Given the description of an element on the screen output the (x, y) to click on. 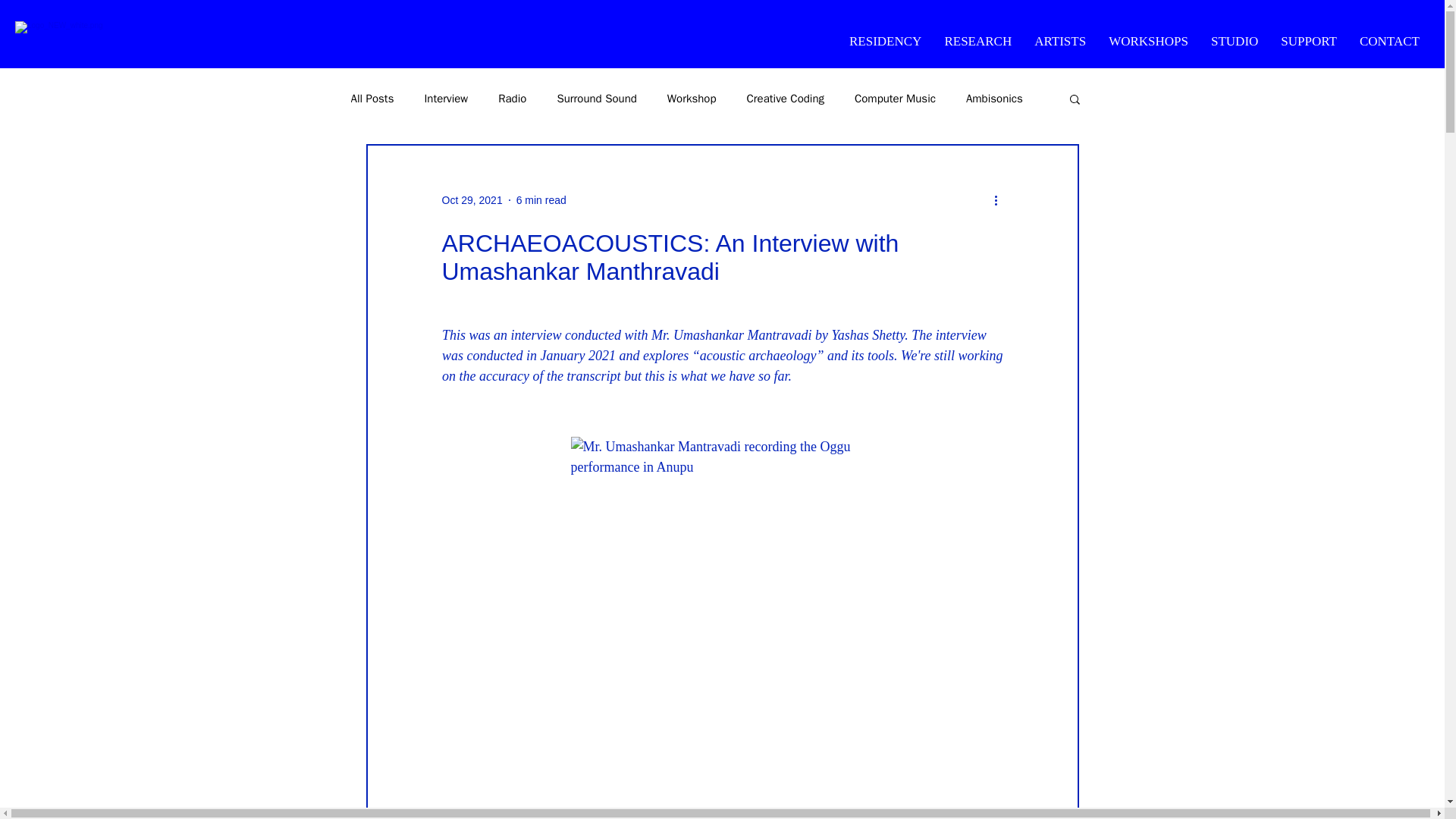
Creative Coding (785, 97)
Interview (445, 97)
Workshop (691, 97)
SUPPORT (1308, 42)
STUDIO (1234, 42)
ARTISTS (1060, 42)
RESIDENCY (885, 42)
Radio (511, 97)
Computer Music (895, 97)
Oct 29, 2021 (471, 200)
